Given the description of an element on the screen output the (x, y) to click on. 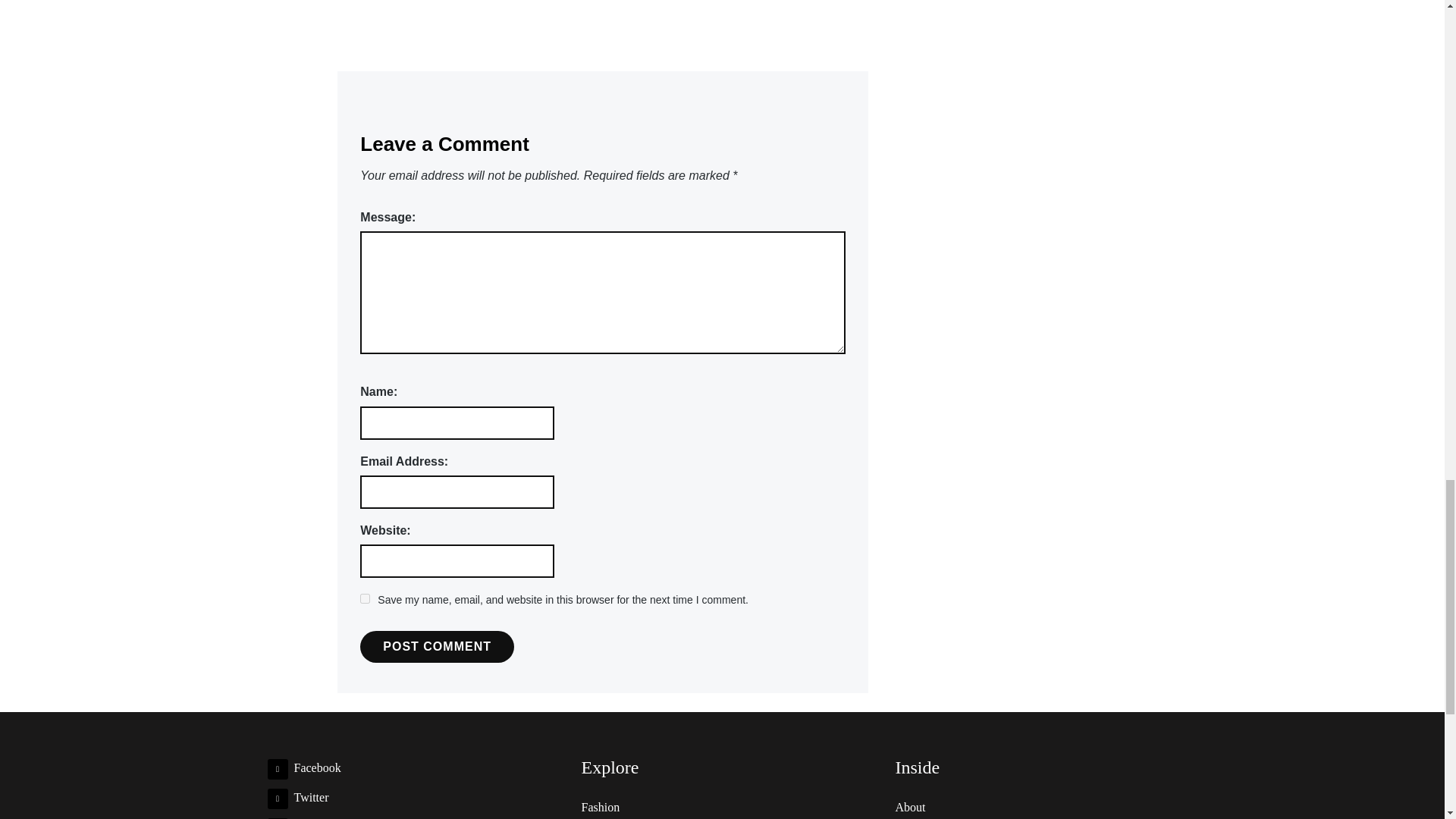
Facebook (303, 767)
Tweet this on Twitter (656, 0)
yes (364, 598)
Twitter (297, 797)
Post Comment (436, 646)
